Given the description of an element on the screen output the (x, y) to click on. 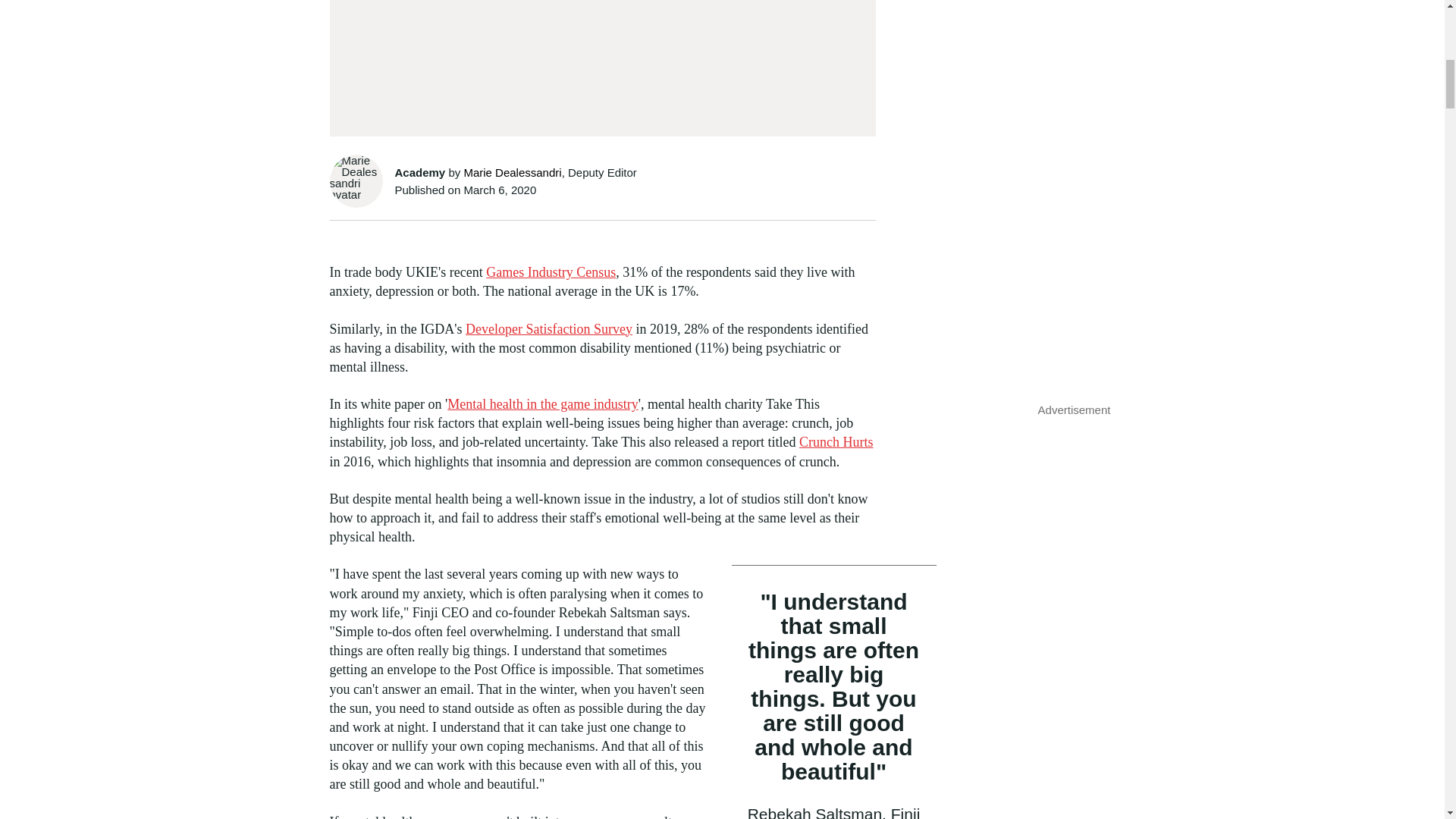
Crunch Hurts (836, 441)
Mental health in the game industry (541, 403)
Marie Dealessandri (511, 172)
Developer Satisfaction Survey (548, 328)
Games Industry Census (550, 272)
